Given the description of an element on the screen output the (x, y) to click on. 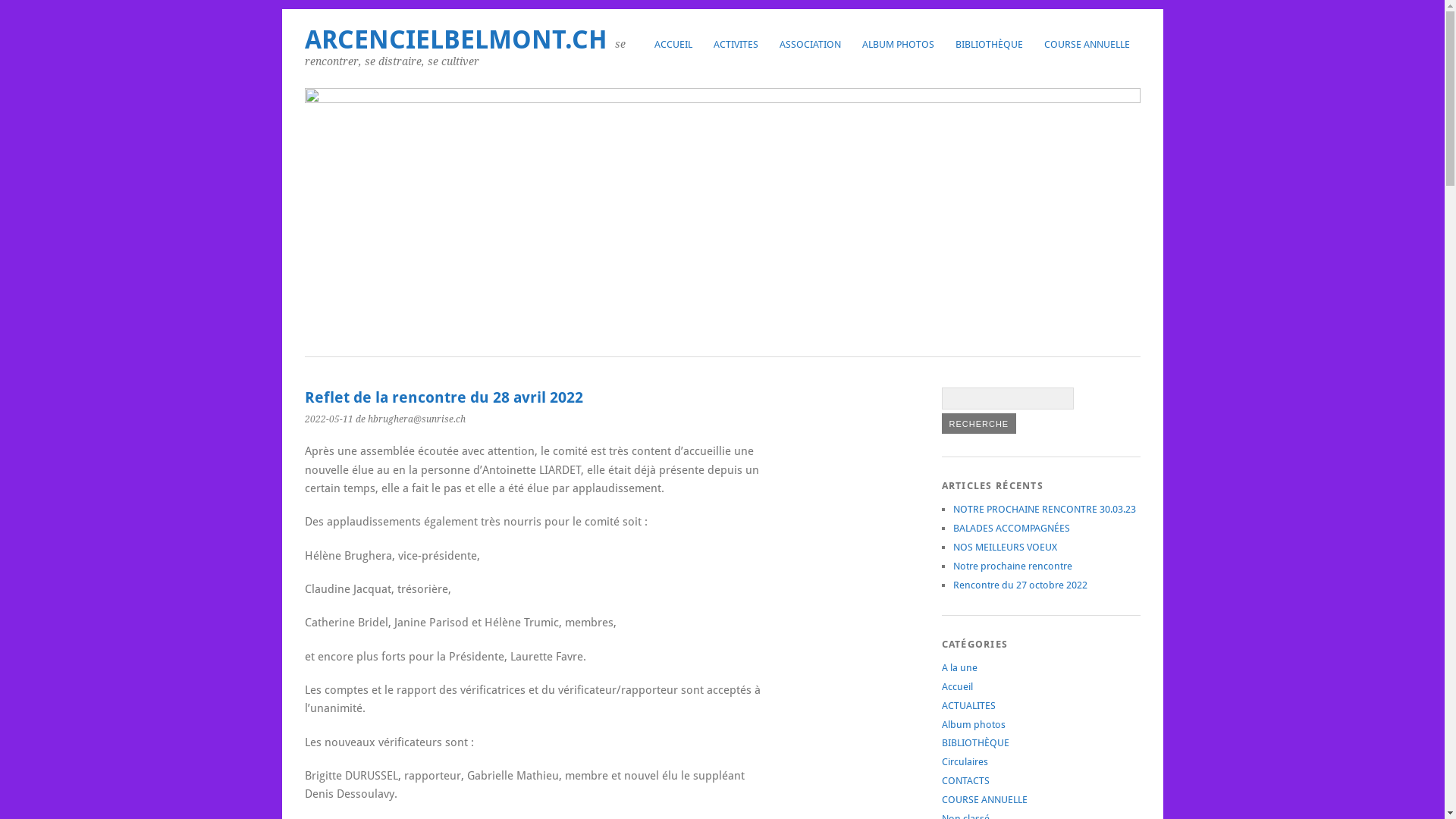
Rencontre du 27 octobre 2022 Element type: text (1019, 584)
Album photos Element type: text (973, 724)
Circulaires Element type: text (964, 761)
A la une Element type: text (959, 667)
COURSE ANNUELLE Element type: text (1085, 43)
CONTACTS Element type: text (965, 780)
ACCUEIL Element type: text (672, 43)
Notre prochaine rencontre Element type: text (1011, 565)
COURSE ANNUELLE Element type: text (984, 799)
ARCENCIELBELMONT.CH Element type: text (455, 39)
Accueil Element type: text (956, 686)
NOTRE PROCHAINE RENCONTRE 30.03.23 Element type: text (1043, 508)
NOS MEILLEURS VOEUX Element type: text (1004, 546)
ACTIVITES Element type: text (735, 43)
Recherche Element type: text (978, 423)
ASSOCIATION Element type: text (809, 43)
ALBUM PHOTOS Element type: text (897, 43)
ACTUALITES Element type: text (968, 705)
